Given the description of an element on the screen output the (x, y) to click on. 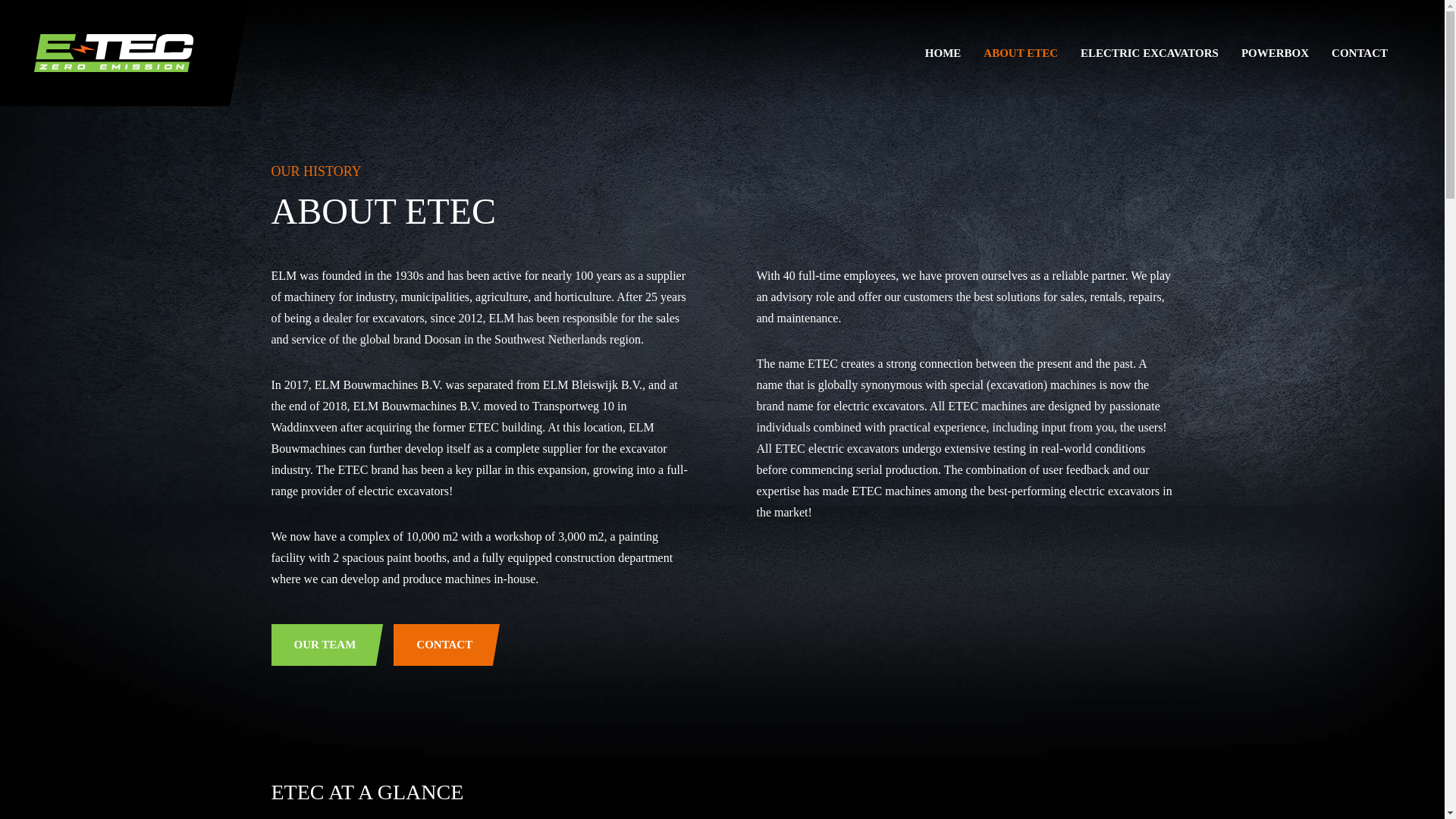
ELECTRIC EXCAVATORS (1149, 53)
CONTACT (449, 644)
ABOUT ETEC (1021, 53)
OUR TEAM (330, 644)
POWERBOX (1274, 53)
HOME (942, 53)
CONTACT (1359, 53)
